Given the description of an element on the screen output the (x, y) to click on. 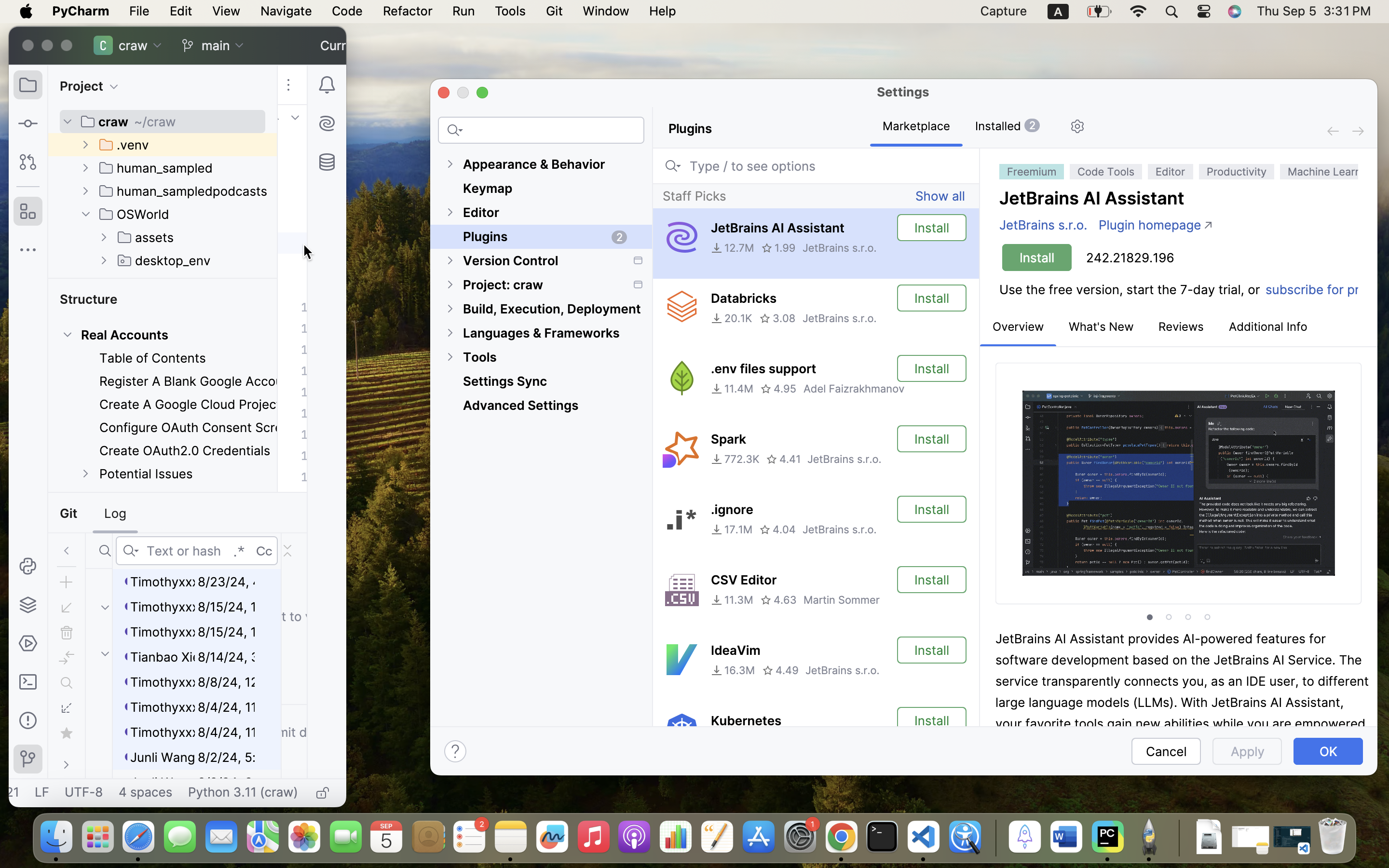
CSV Editor Element type: AXStaticText (743, 579)
Settings Element type: AXStaticText (902, 91)
JetBrains AI Assistant Element type: AXTextField (1092, 198)
3.81 Element type: AXStaticText (773, 740)
JetBrains AI Assistant Element type: AXStaticText (777, 227)
